Given the description of an element on the screen output the (x, y) to click on. 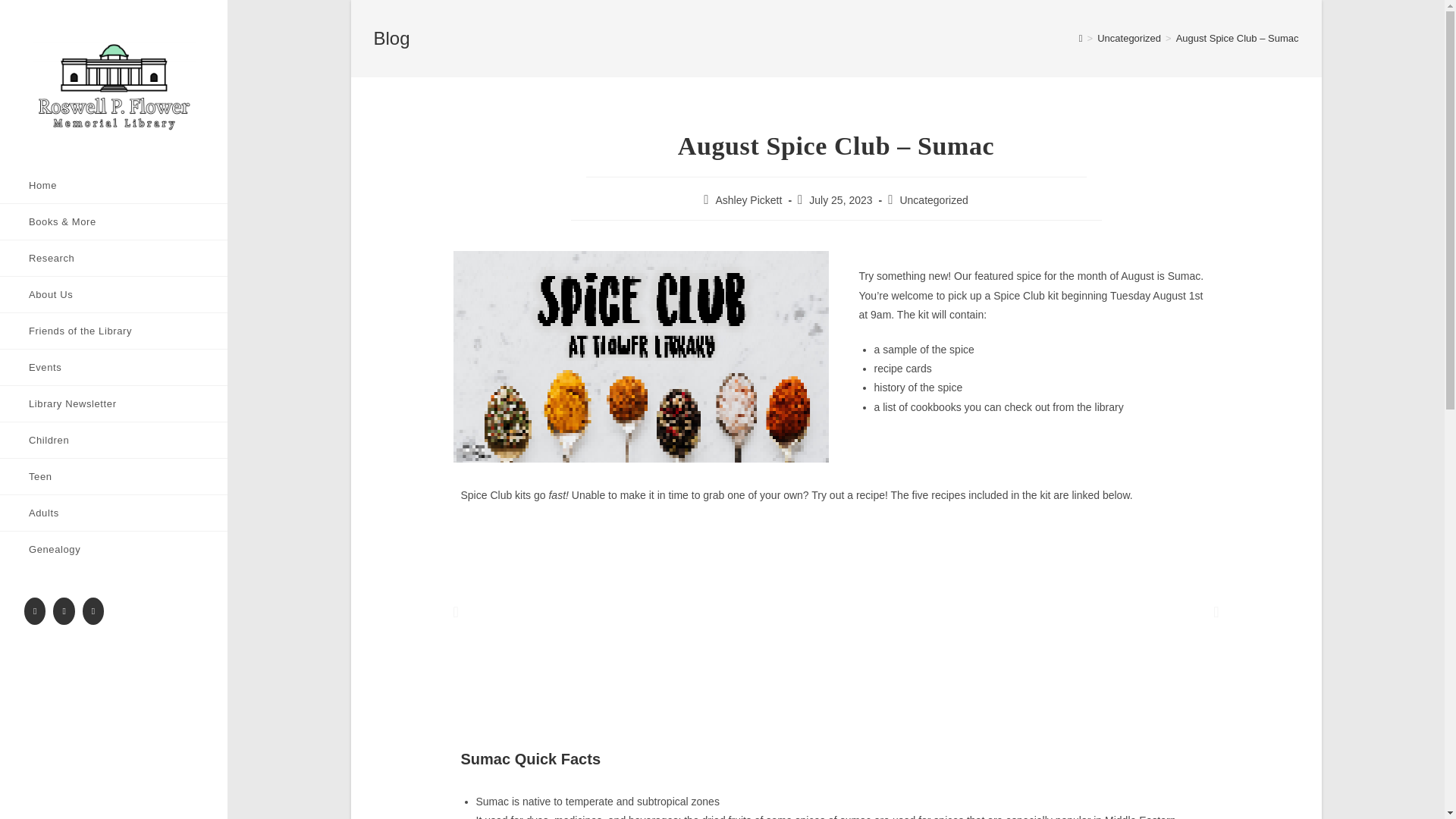
Library Newsletter (113, 403)
About Us (113, 294)
Adults (113, 512)
Friends of the Library (113, 330)
Posts by Ashley Pickett (747, 200)
Events (113, 366)
Teen (113, 476)
Home (113, 185)
Children (113, 439)
Research (113, 258)
